Given the description of an element on the screen output the (x, y) to click on. 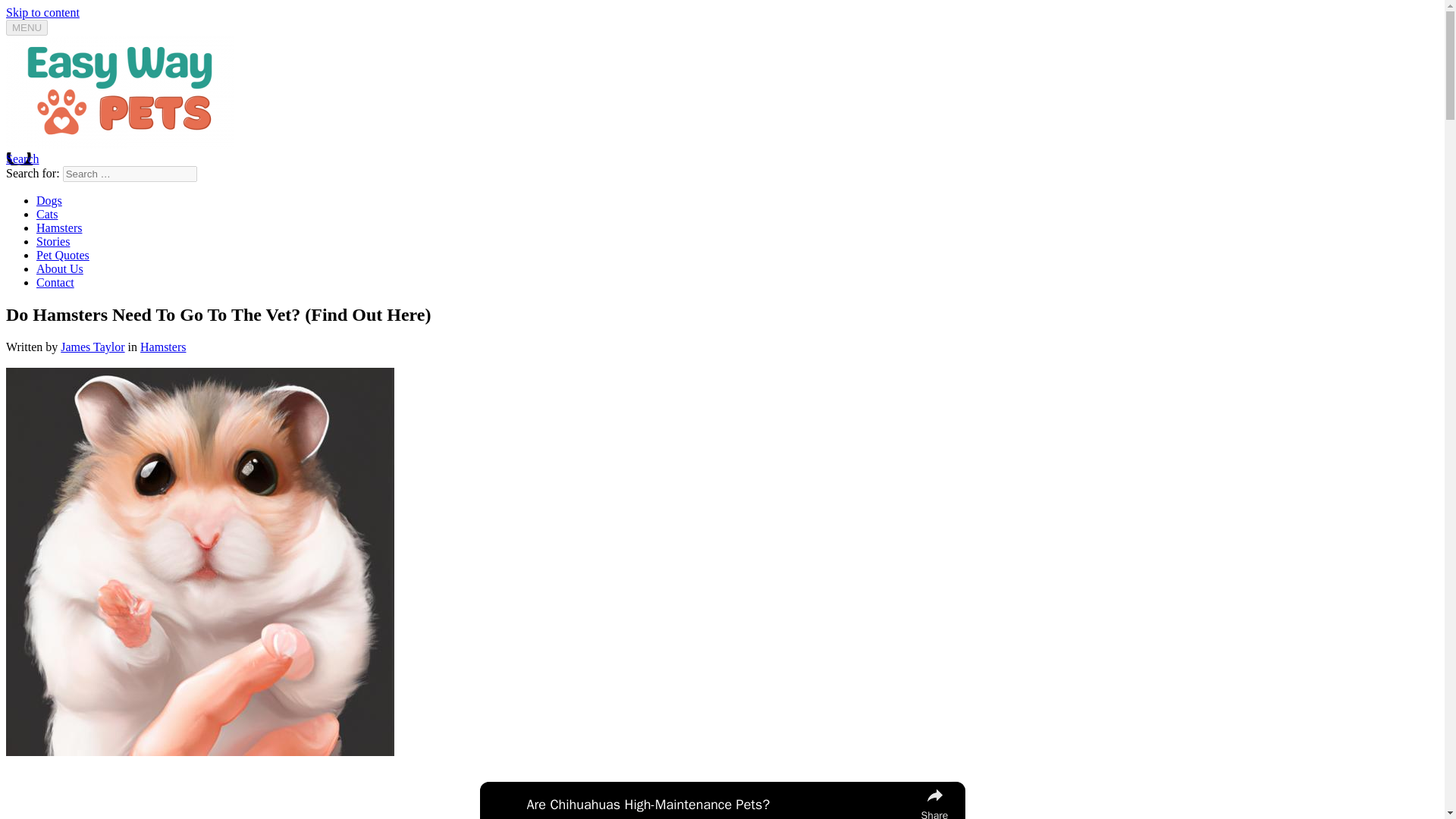
Hamsters (58, 227)
James Taylor (92, 346)
Search (22, 158)
Pet Quotes (62, 254)
Cats (47, 214)
Contact (55, 282)
About Us (59, 268)
Hamsters (162, 346)
Skip to content (42, 11)
Are Chihuahuas High-Maintenance Pets? (718, 804)
MENU (26, 27)
Dogs (49, 200)
Stories (52, 241)
